Given the description of an element on the screen output the (x, y) to click on. 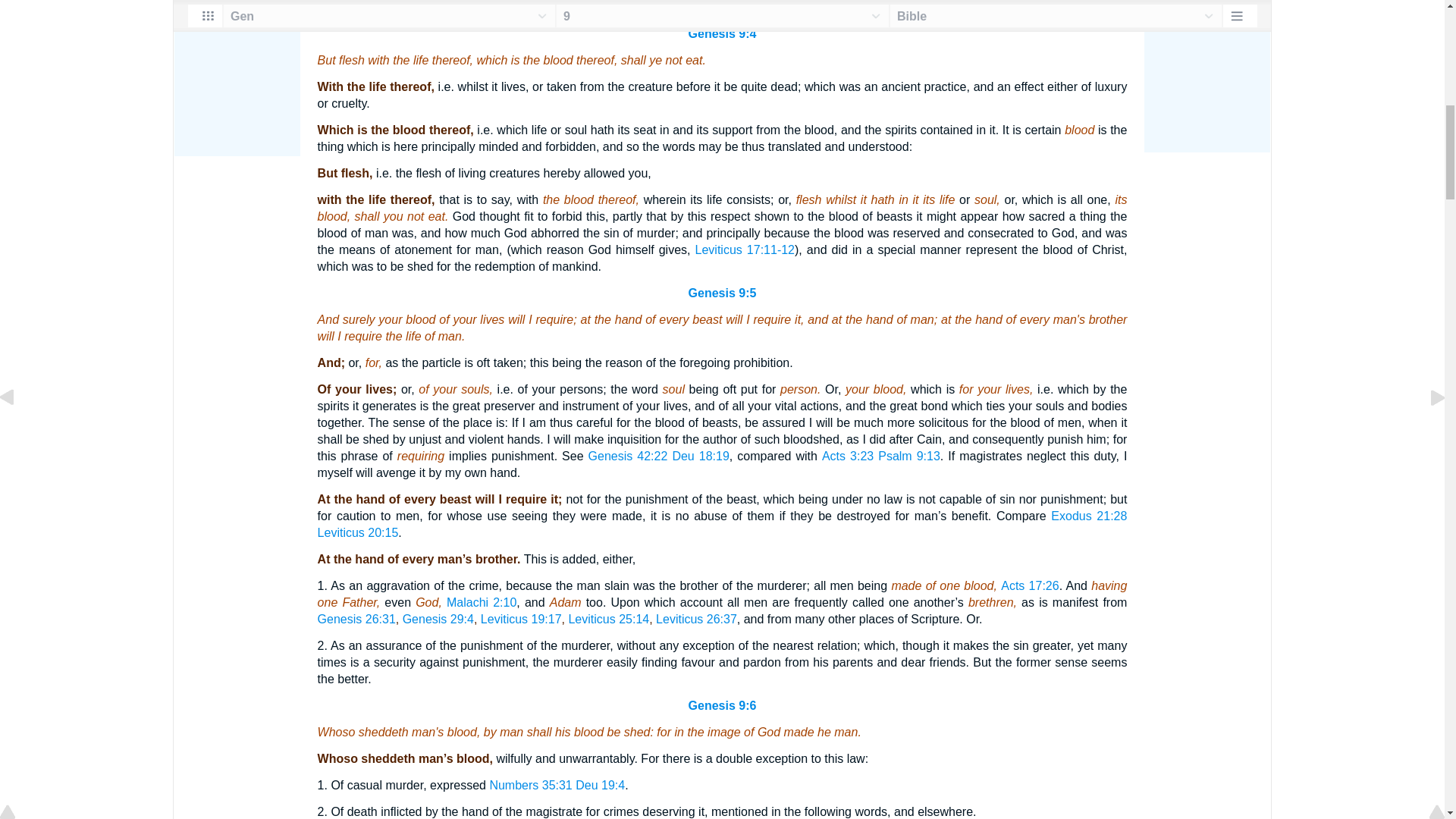
Genesis 42:22 (628, 455)
Genesis 9:5 (722, 292)
Deu 18:19 (700, 455)
Genesis 9:4 (722, 33)
Leviticus 17:11-12 (744, 249)
Genesis 1:29 (990, 6)
Acts 3:23 (847, 455)
